Given the description of an element on the screen output the (x, y) to click on. 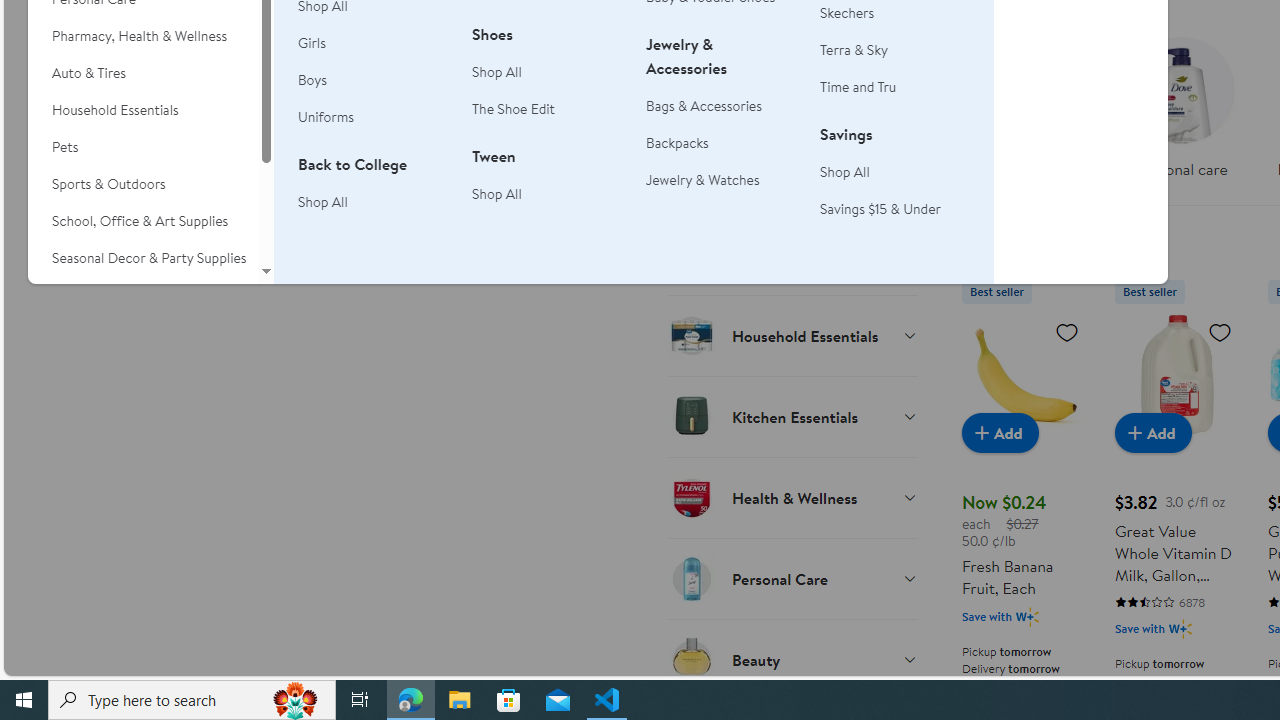
Boys (312, 79)
Movies, Music & Books (143, 295)
School, Office & Art Supplies (143, 221)
Savings $15 & Under (895, 209)
Uniforms (373, 117)
Walmart Plus (1179, 628)
Jewelry & Watches (703, 179)
Seasonal Decor & Party Supplies (143, 258)
School, Office & Art Supplies (143, 221)
Skechers (847, 12)
Personal care (1180, 101)
Seasonal Decor & Party Supplies (143, 258)
Fresh Banana Fruit, Each (1024, 374)
Shop All (845, 172)
